Given the description of an element on the screen output the (x, y) to click on. 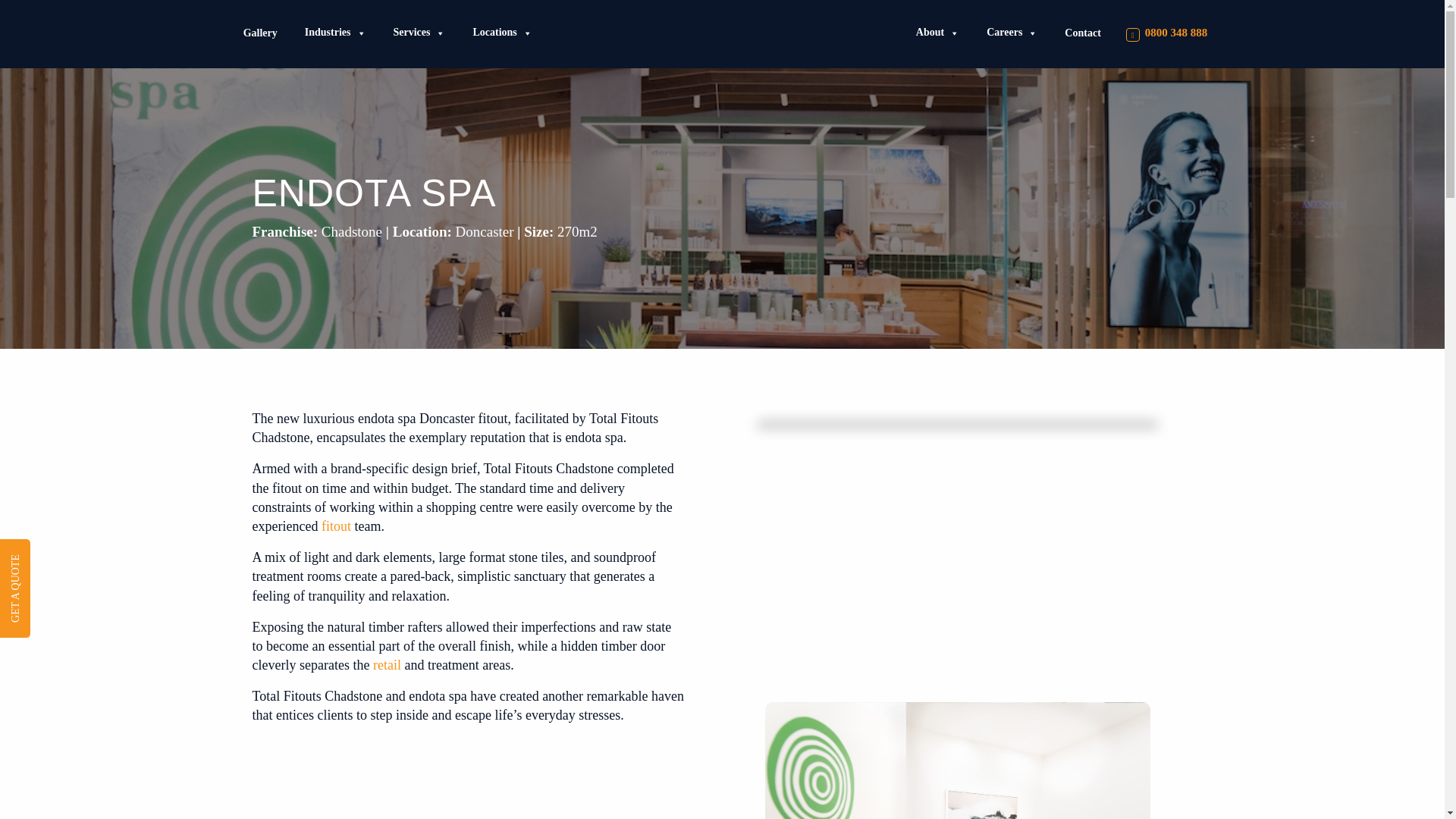
Services (418, 32)
Industries (335, 32)
Gallery (260, 32)
